Given the description of an element on the screen output the (x, y) to click on. 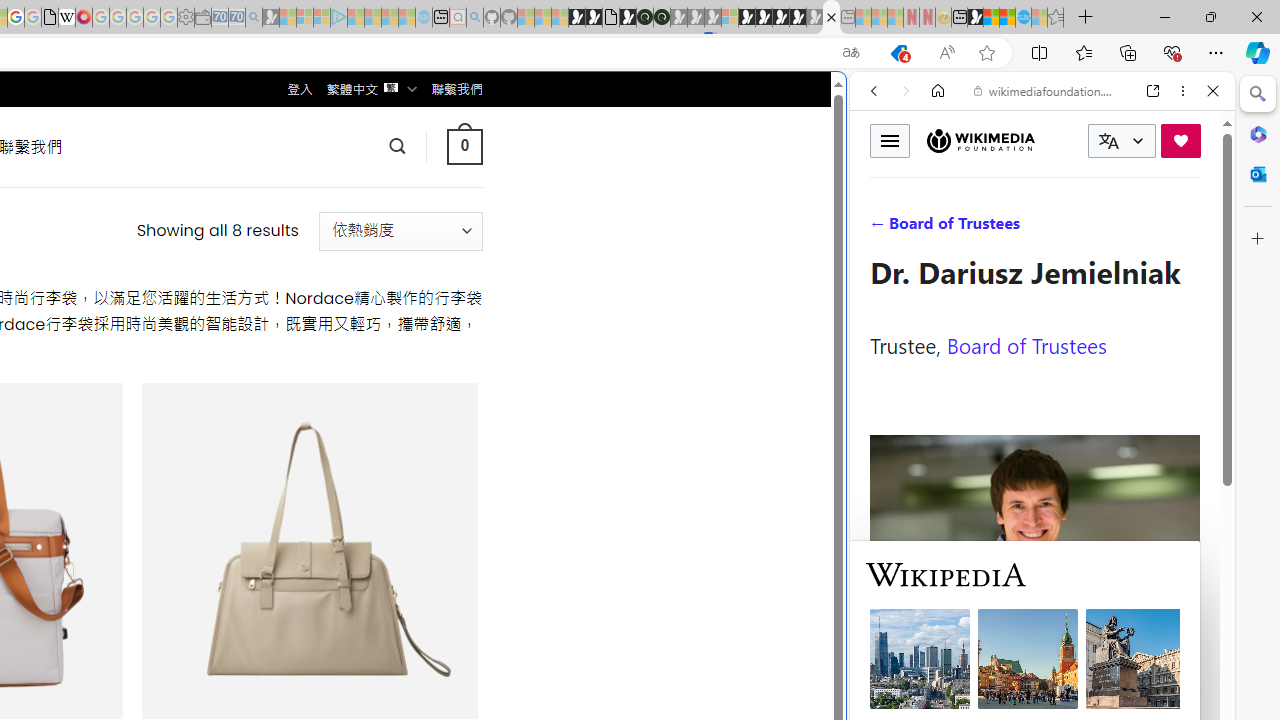
Board of Trustees (1026, 344)
Search Filter, VIDEOS (1006, 228)
wikimediafoundation.org (1045, 90)
This site has coupons! Shopping in Microsoft Edge, 4 (898, 53)
